Given the description of an element on the screen output the (x, y) to click on. 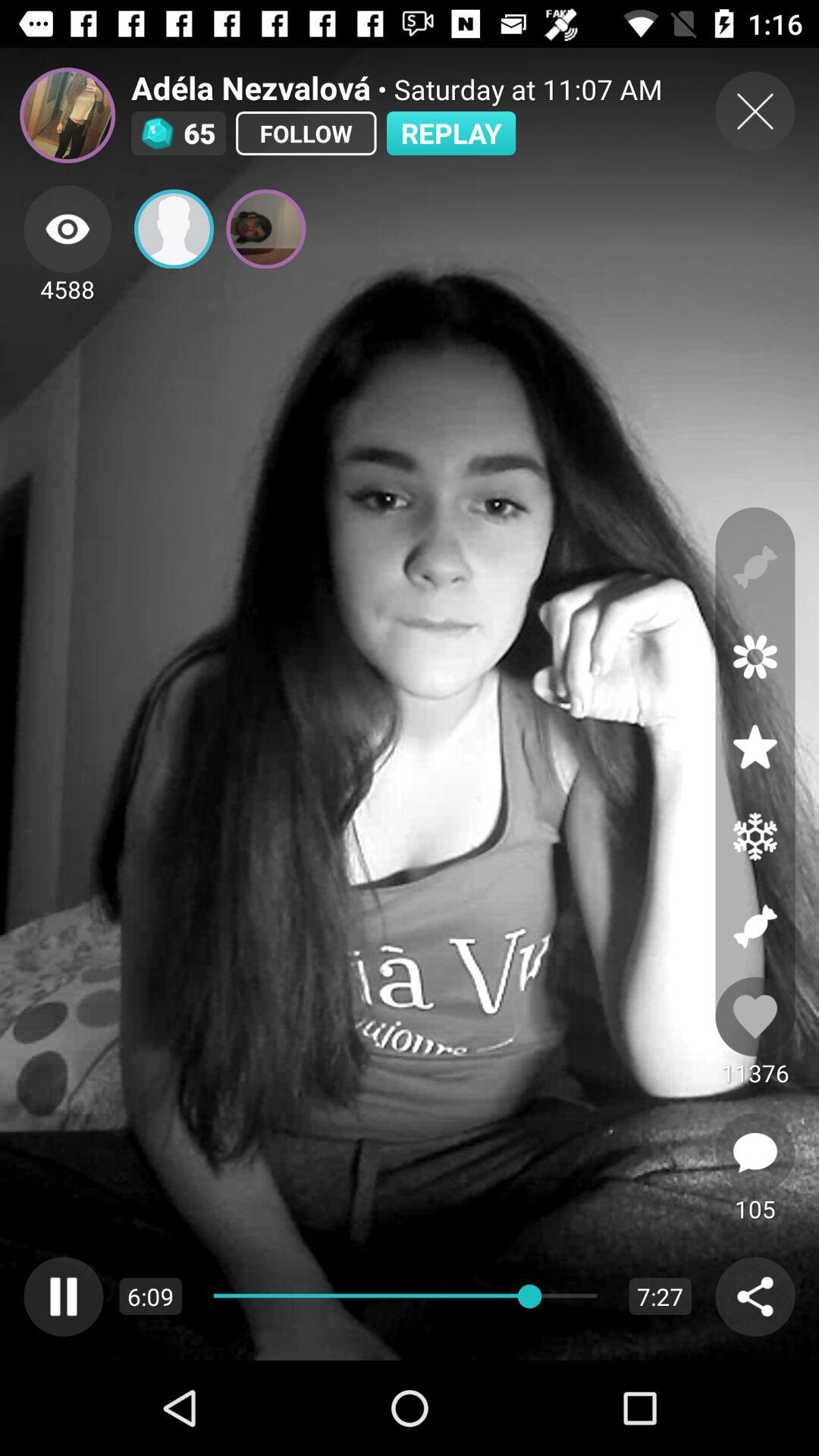
vedio call (173, 229)
